Given the description of an element on the screen output the (x, y) to click on. 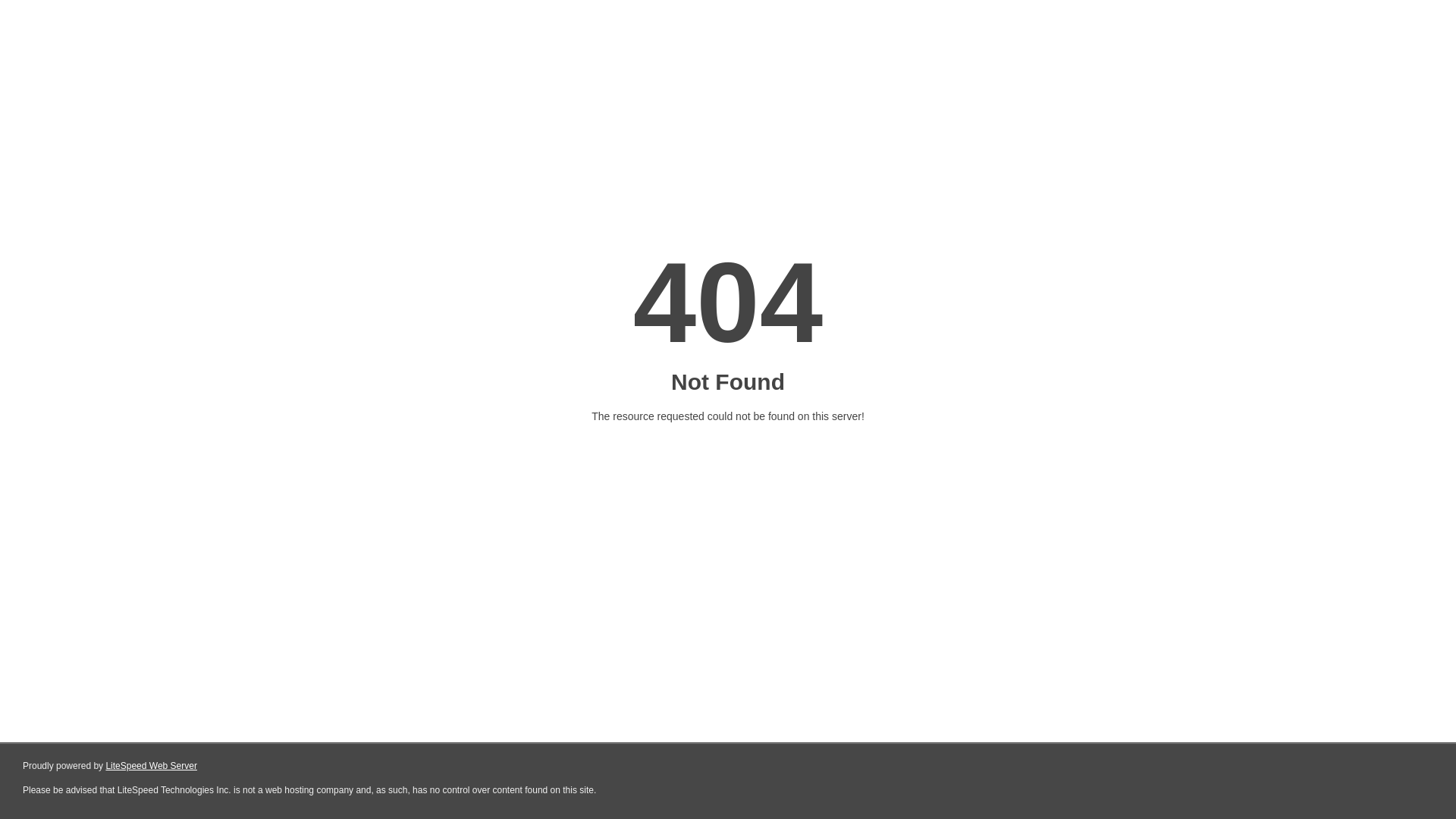
LiteSpeed Web Server Element type: text (151, 765)
